Given the description of an element on the screen output the (x, y) to click on. 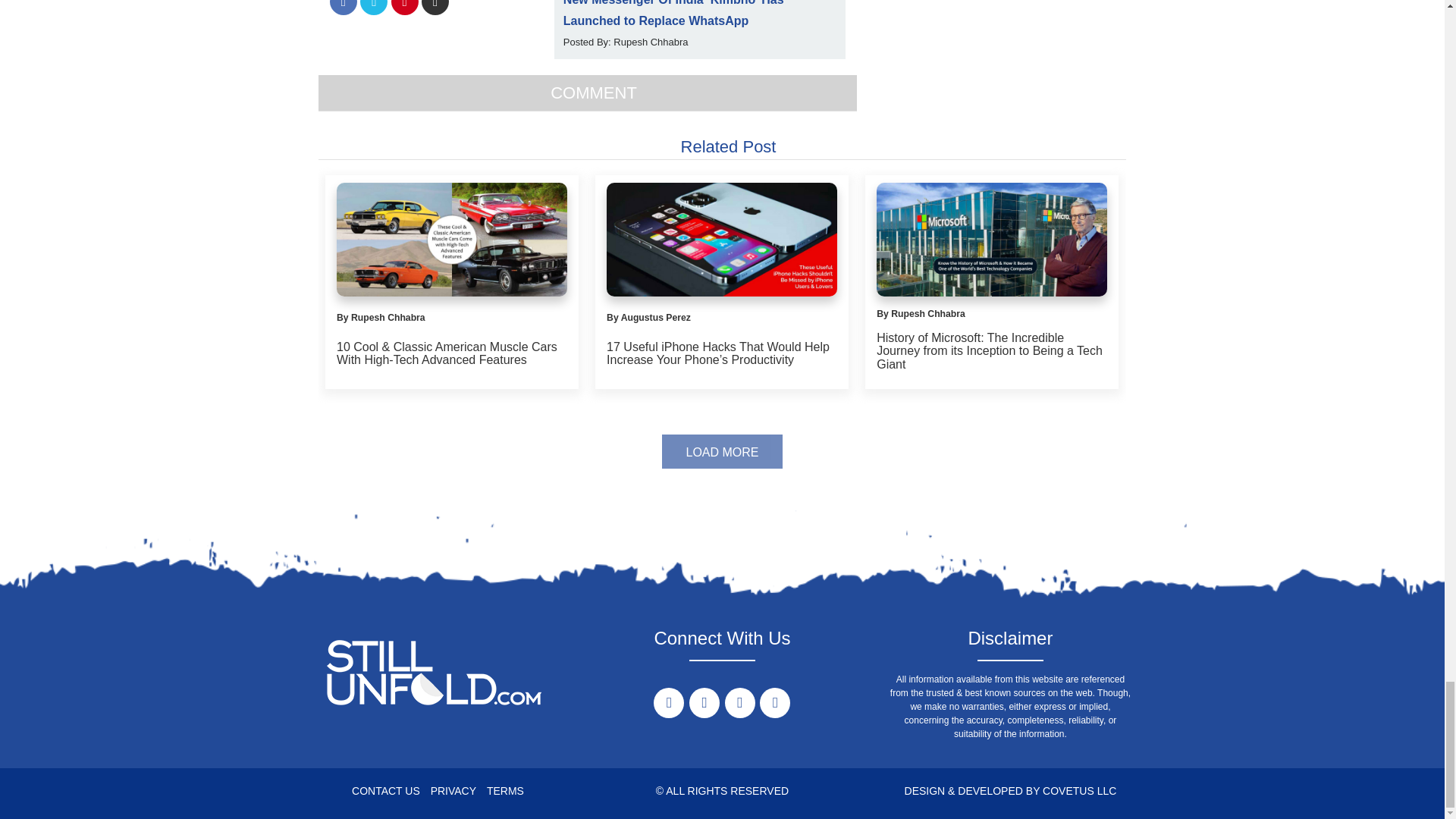
LOAD MORE (721, 451)
